Given the description of an element on the screen output the (x, y) to click on. 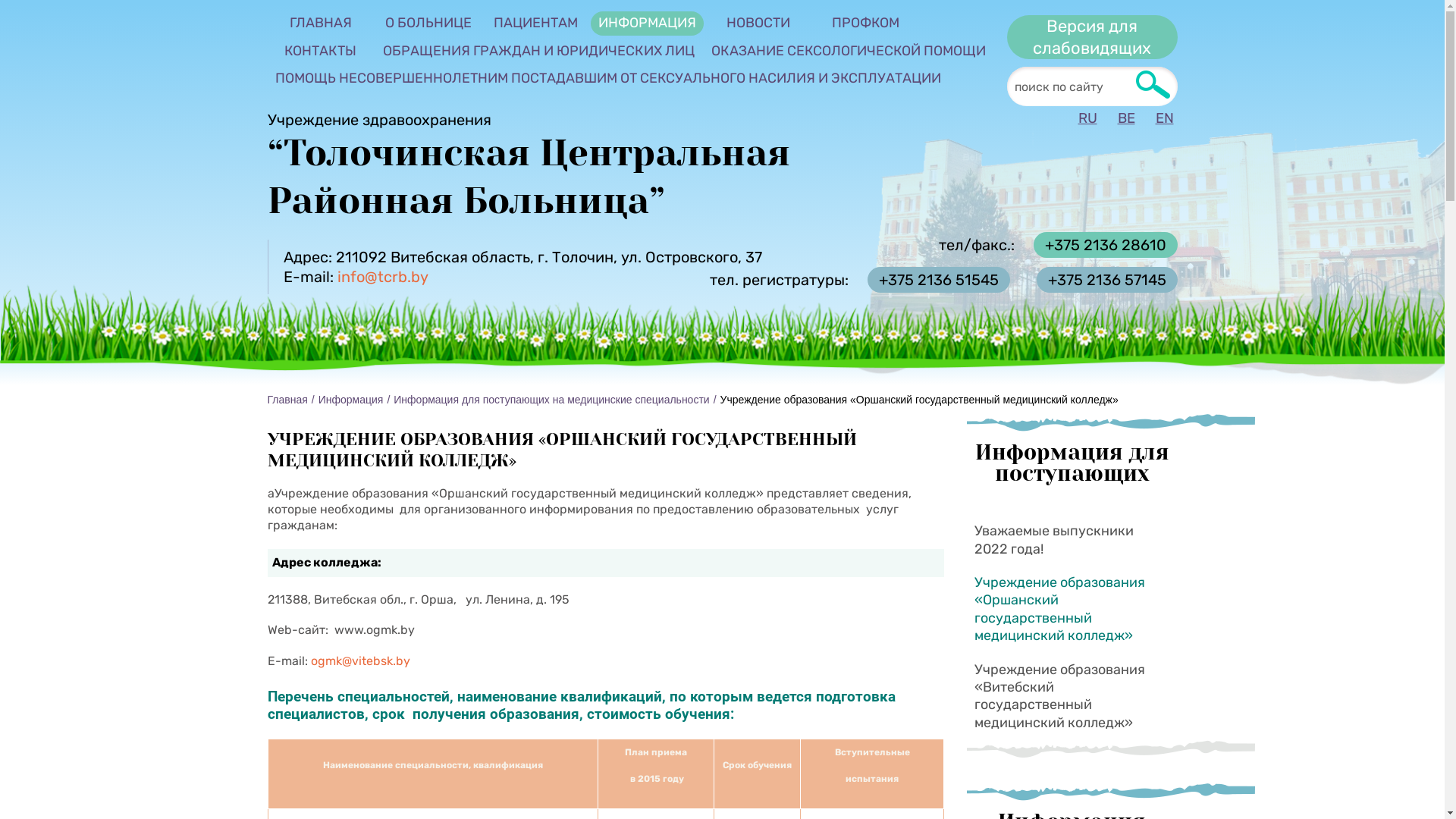
RU Element type: text (1082, 118)
+375 2136 28610 Element type: text (1096, 244)
BE Element type: text (1120, 118)
@tcrb.by Element type: text (395, 276)
+375 2136 51545 Element type: text (931, 279)
info Element type: text (350, 276)
EN Element type: text (1158, 118)
ogmk@vitebsk.by Element type: text (360, 660)
+375 2136 57145 Element type: text (1098, 279)
